Given the description of an element on the screen output the (x, y) to click on. 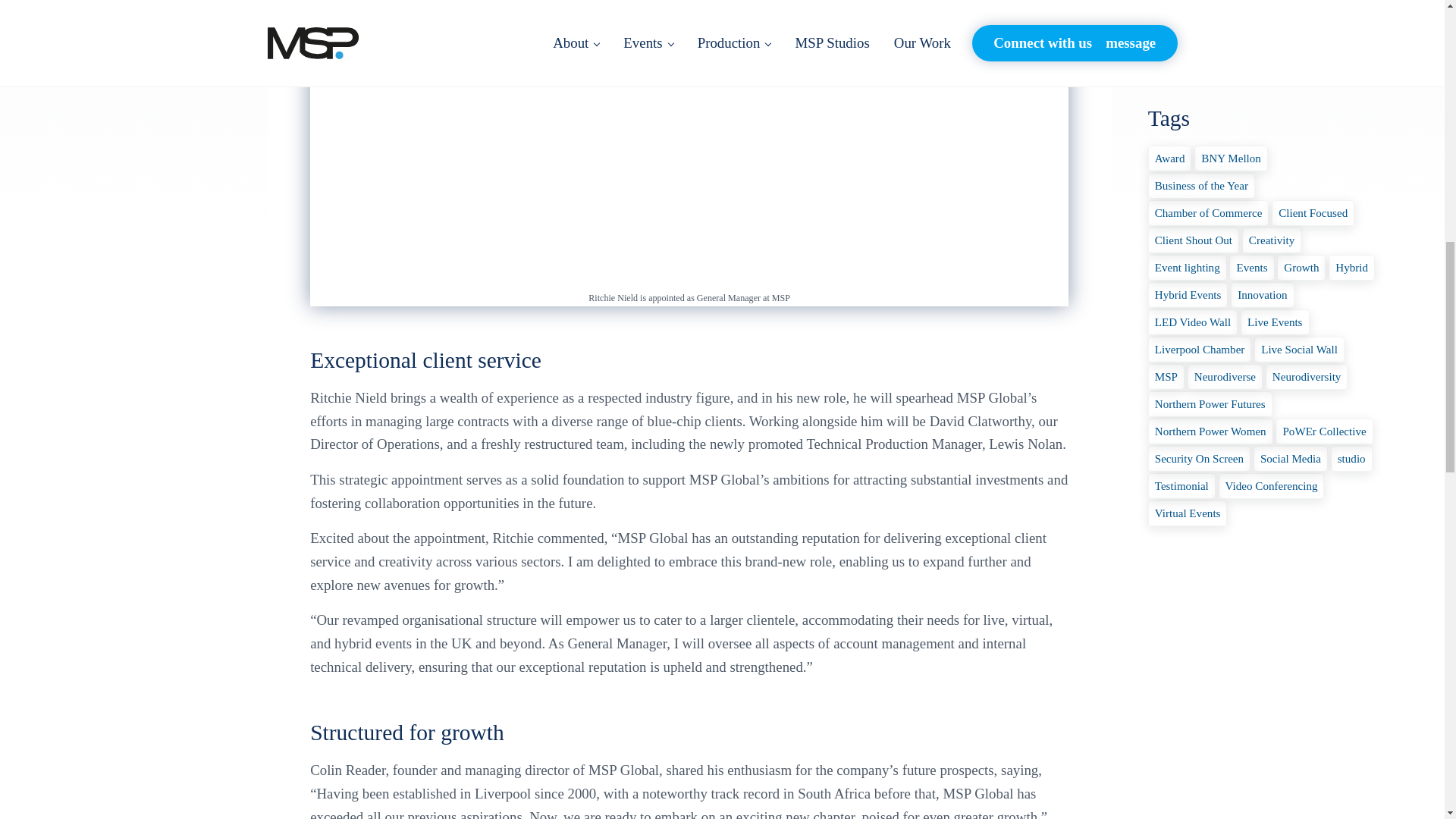
Useful tips (1178, 65)
Uncategorized (1189, 35)
News (1164, 7)
BNY Mellon (1230, 158)
Award (1170, 158)
